Given the description of an element on the screen output the (x, y) to click on. 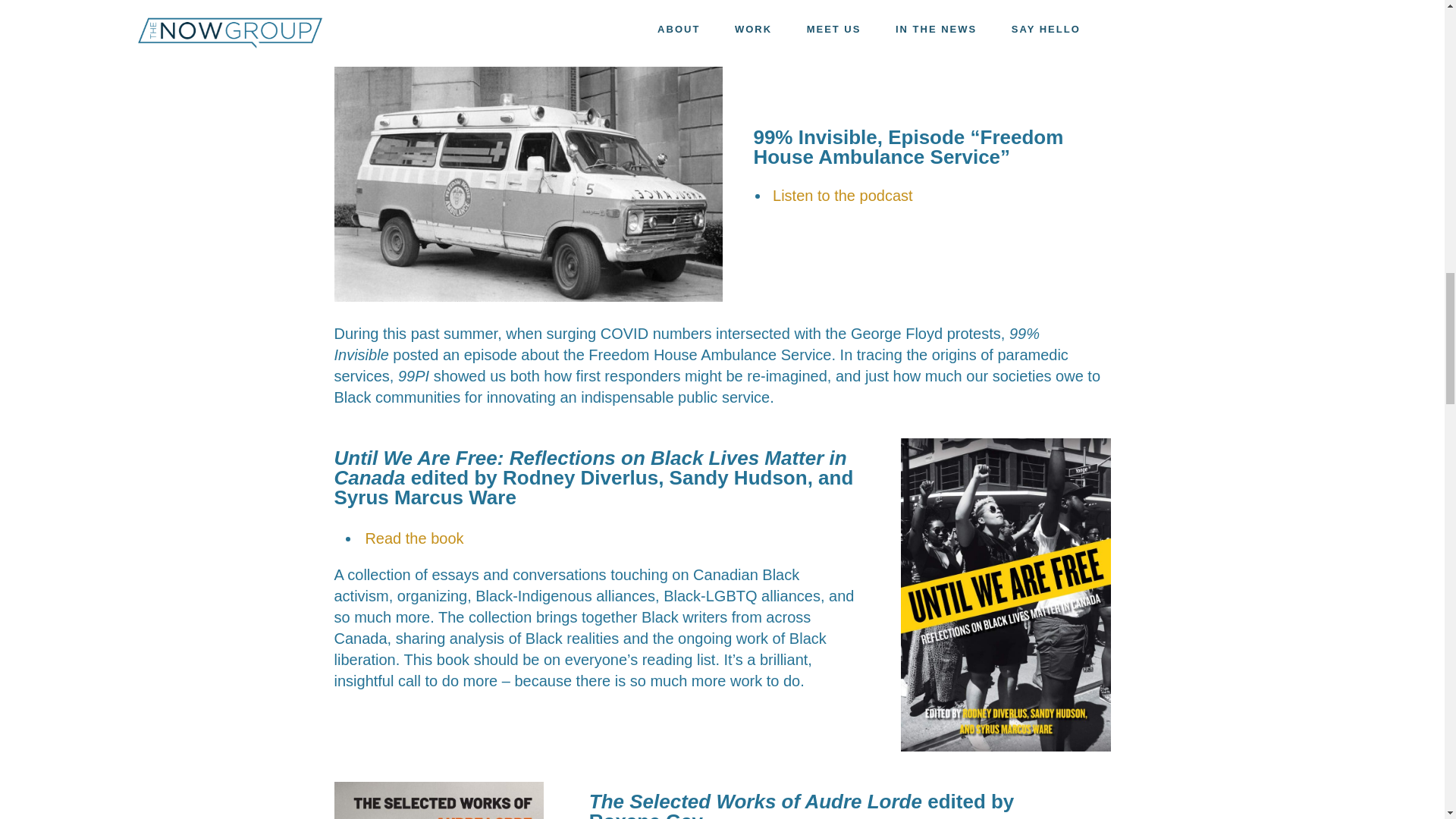
Read the book (414, 538)
Listen to the podcast (842, 195)
